Given the description of an element on the screen output the (x, y) to click on. 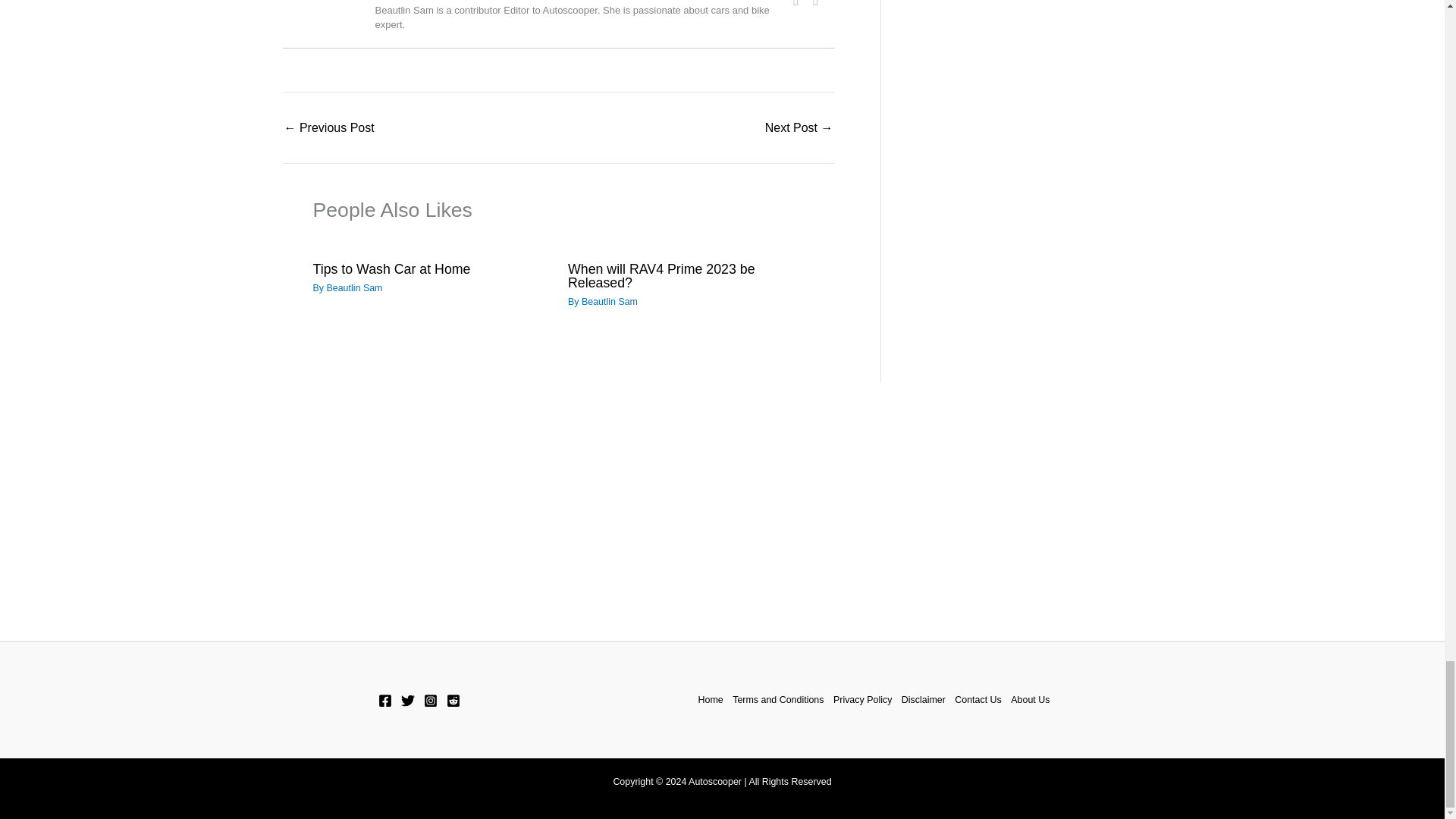
Facebook (796, 4)
View all posts by Beautlin Sam (608, 301)
When will the 2023 Chevrolet Equinox be available? (328, 128)
Twitter (815, 4)
How To Extend Your Cars Life? (798, 128)
View all posts by Beautlin Sam (353, 287)
